Given the description of an element on the screen output the (x, y) to click on. 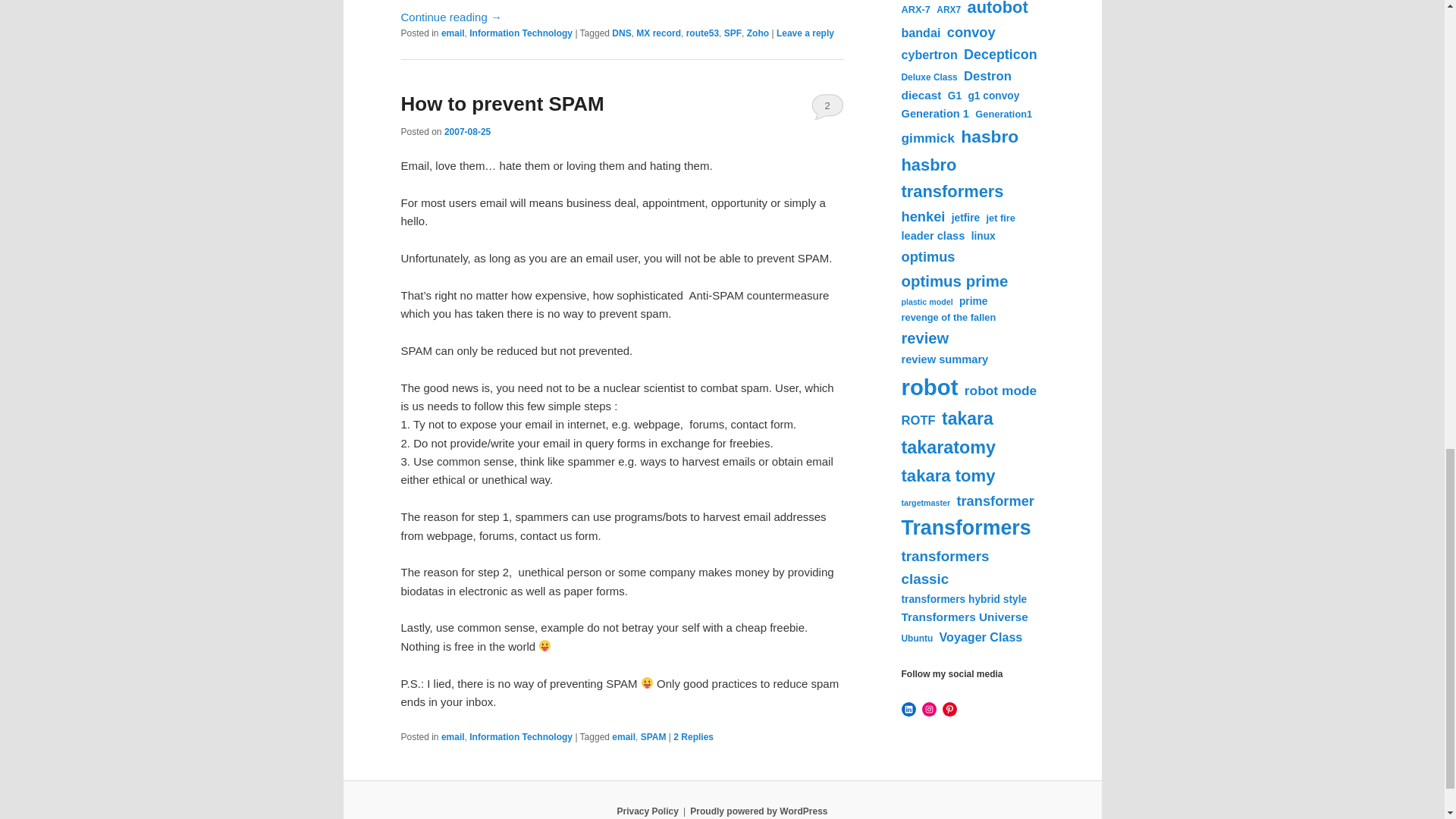
email (452, 32)
Zoho (757, 32)
MX record (658, 32)
SPF (732, 32)
route53 (702, 32)
Information Technology (520, 32)
email (622, 737)
Information Technology (520, 737)
15:50 (467, 131)
2007-08-25 (467, 131)
SPAM (653, 737)
2 (827, 105)
Semantic Personal Publishing Platform (758, 810)
email (452, 737)
How to prevent SPAM (502, 103)
